Given the description of an element on the screen output the (x, y) to click on. 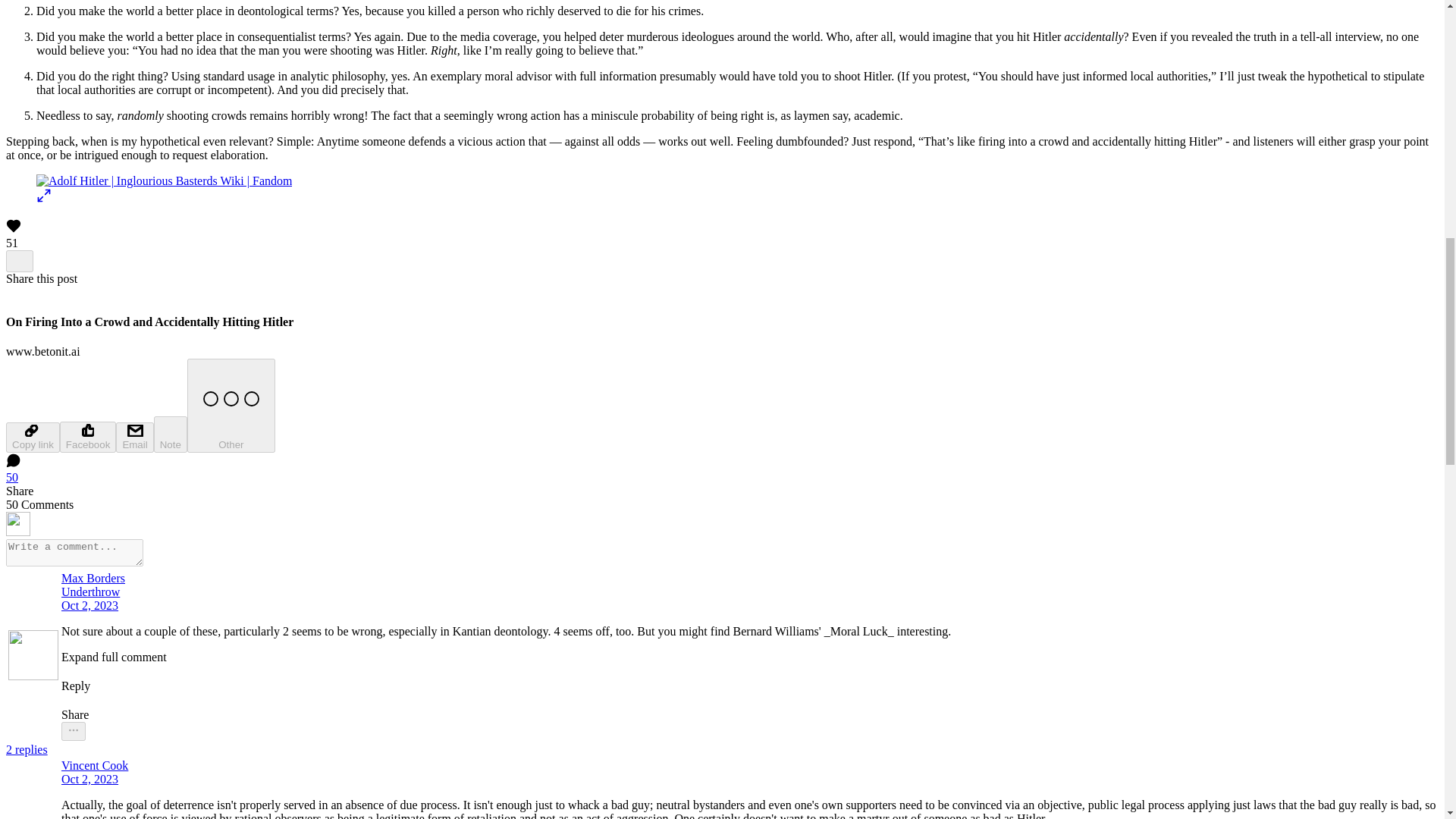
Max Borders (505, 578)
Reply (505, 678)
Email (134, 437)
Oct 2, 2023 (89, 604)
Facebook (87, 436)
Other (231, 405)
Underthrow (90, 591)
Copy link (32, 437)
Note (170, 434)
Share (505, 715)
